Given the description of an element on the screen output the (x, y) to click on. 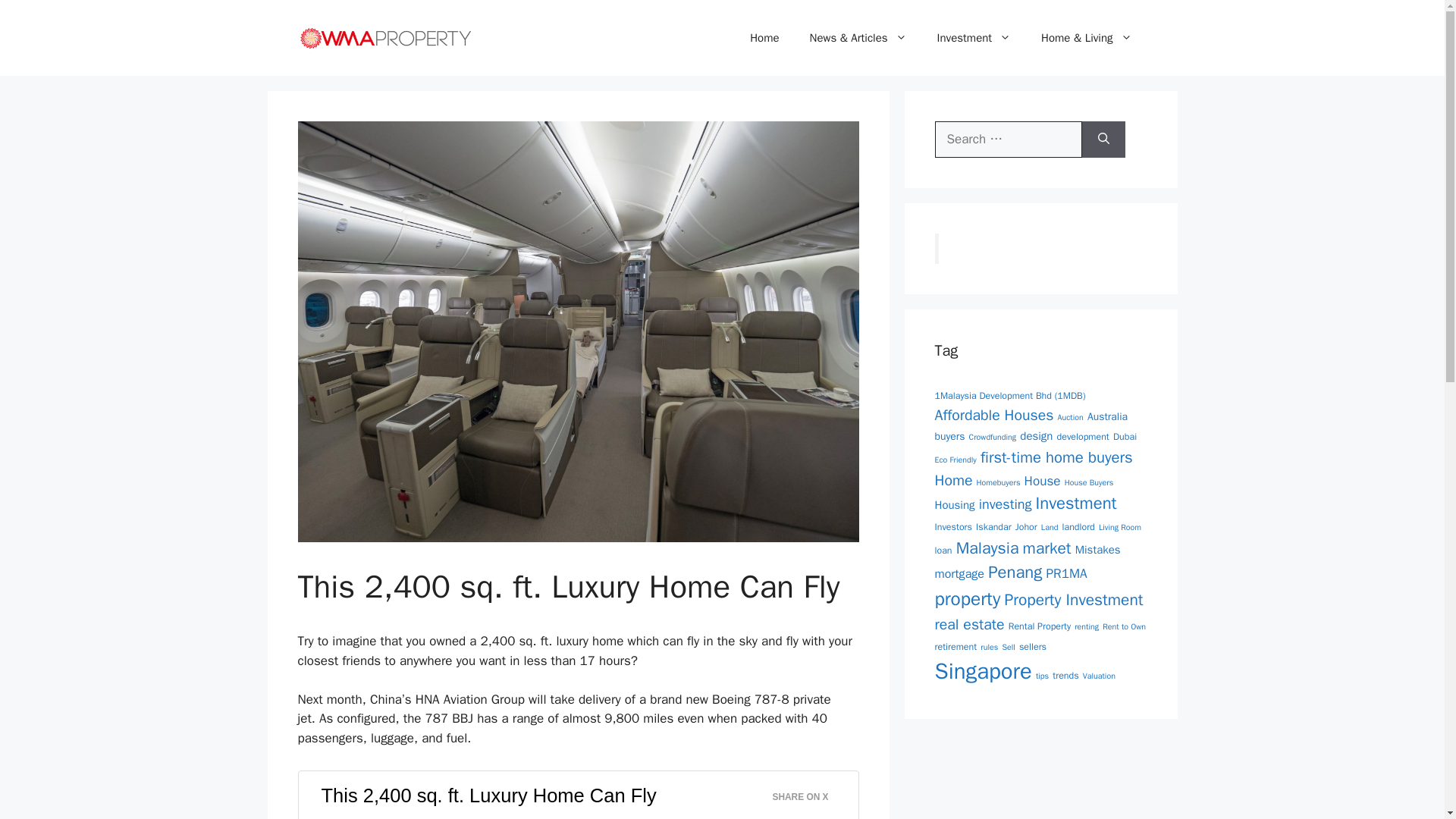
Investment (973, 37)
Home (764, 37)
This 2,400 sq. ft. Luxury Home Can Fly (488, 795)
Search for: (1007, 139)
SHARE ON X (808, 793)
